Given the description of an element on the screen output the (x, y) to click on. 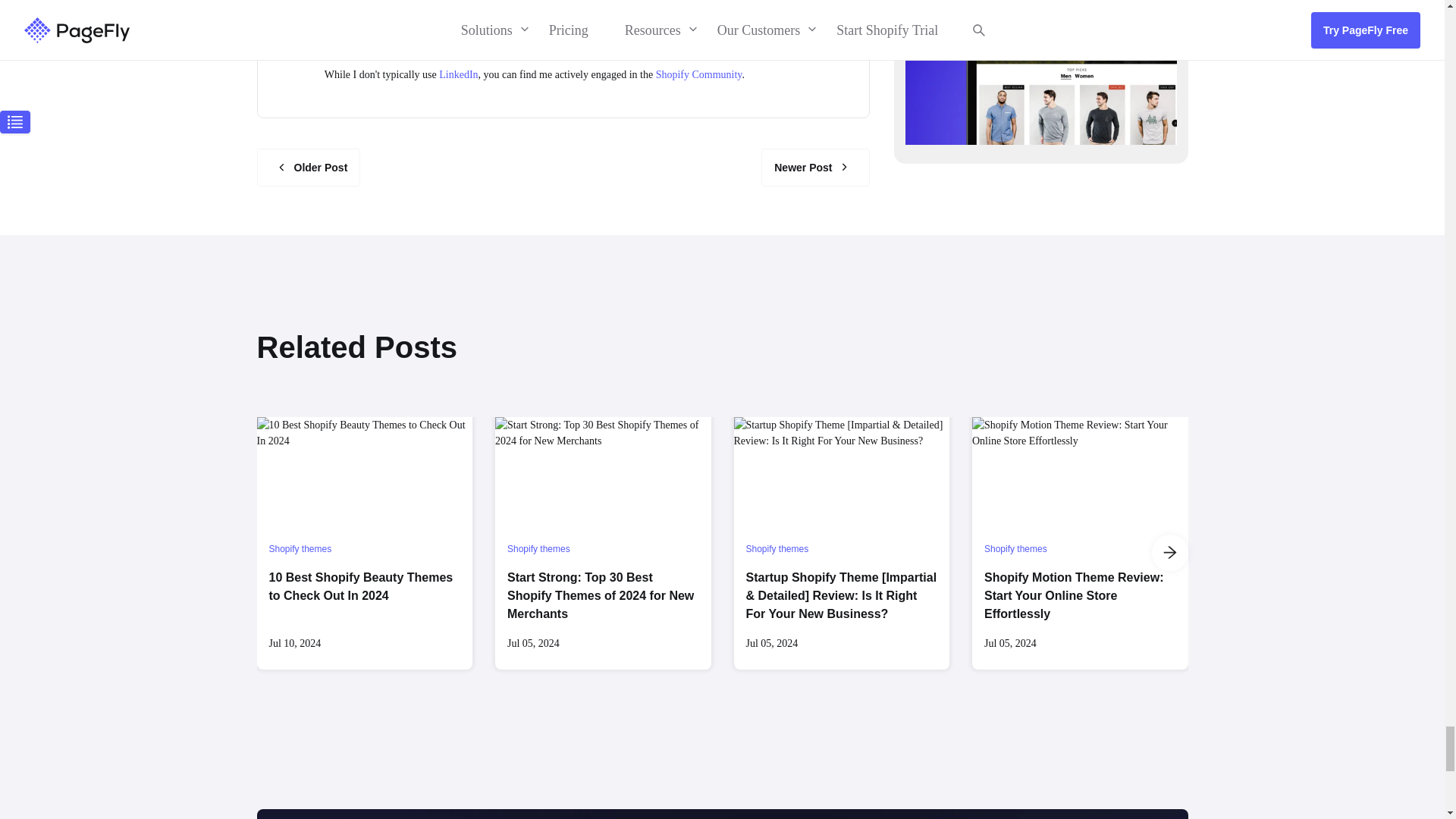
Show articles tagged Shopify themes (777, 548)
Show articles tagged Shopify themes (299, 548)
Show articles tagged Shopify themes (538, 548)
